Given the description of an element on the screen output the (x, y) to click on. 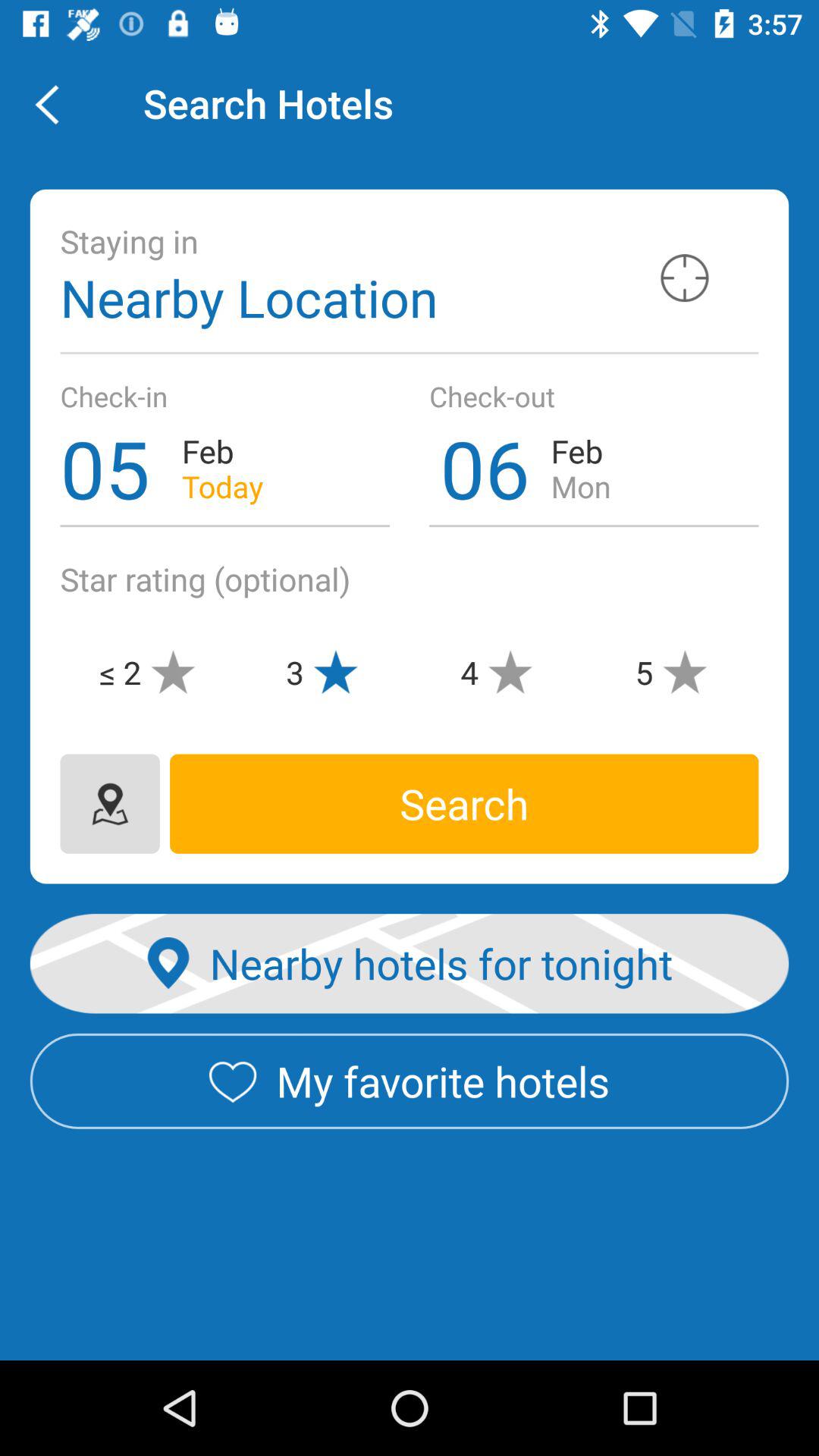
view location (684, 278)
